Given the description of an element on the screen output the (x, y) to click on. 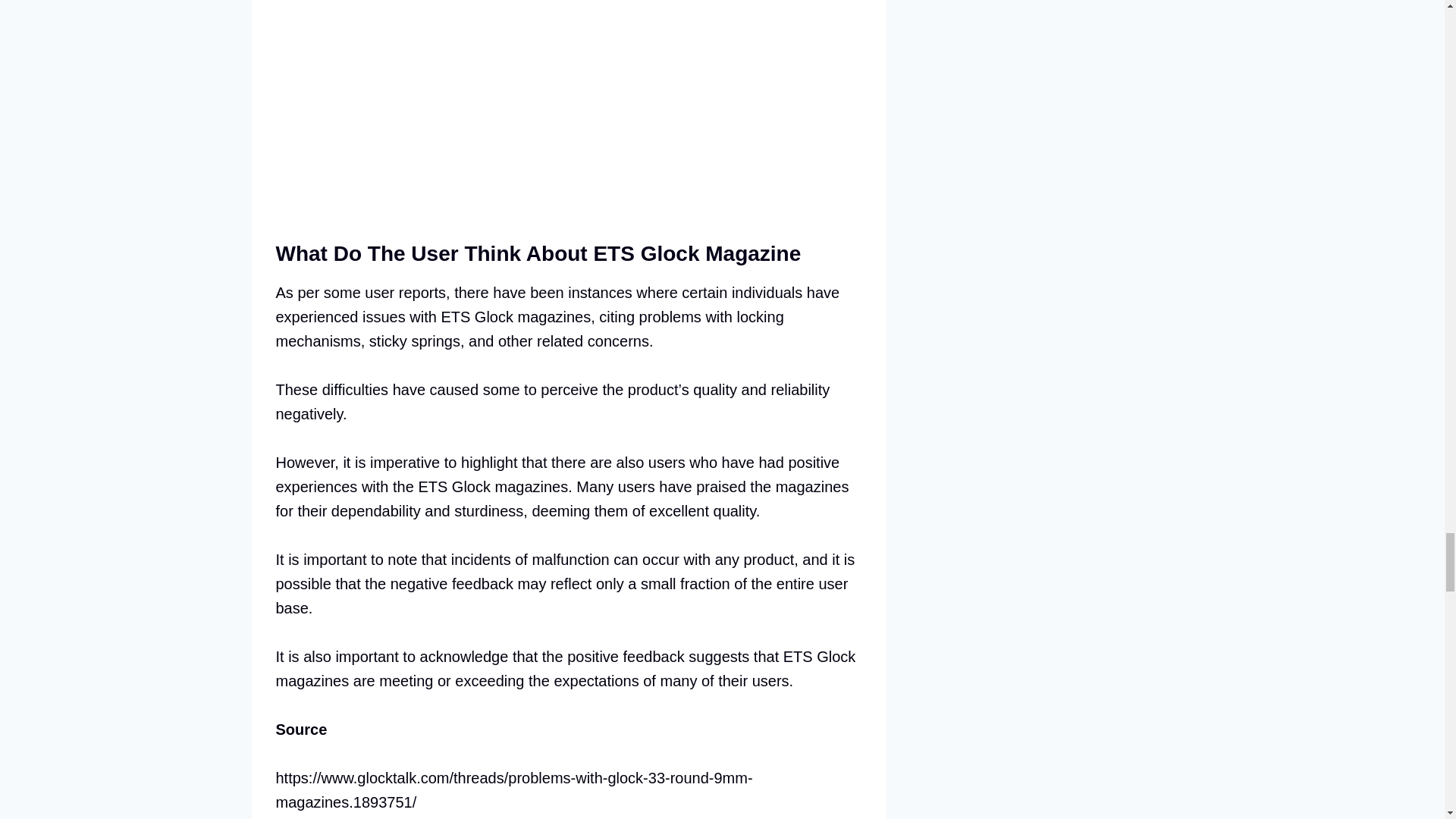
YouTube video player (488, 99)
